Given the description of an element on the screen output the (x, y) to click on. 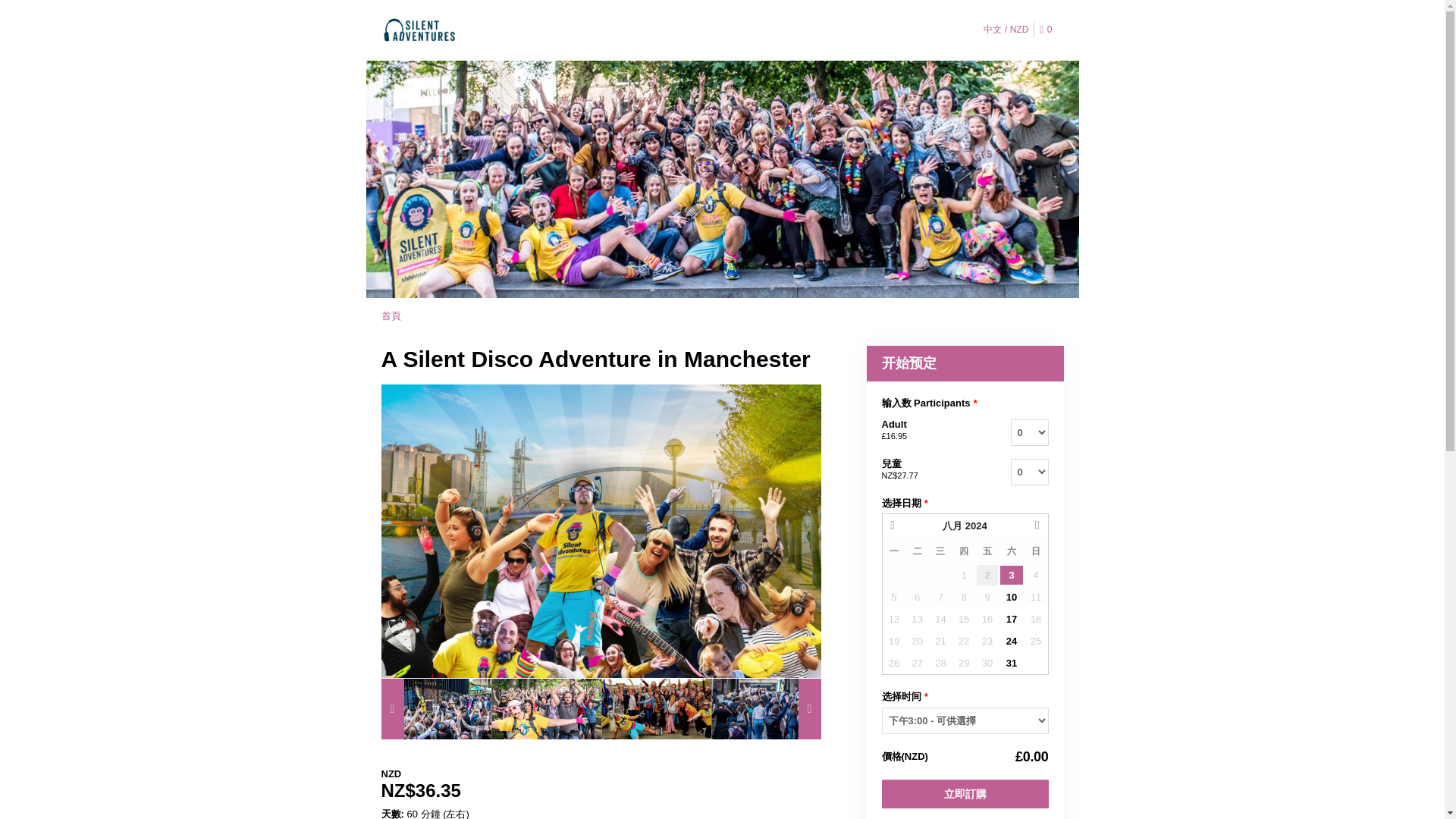
0 (1047, 30)
